Given the description of an element on the screen output the (x, y) to click on. 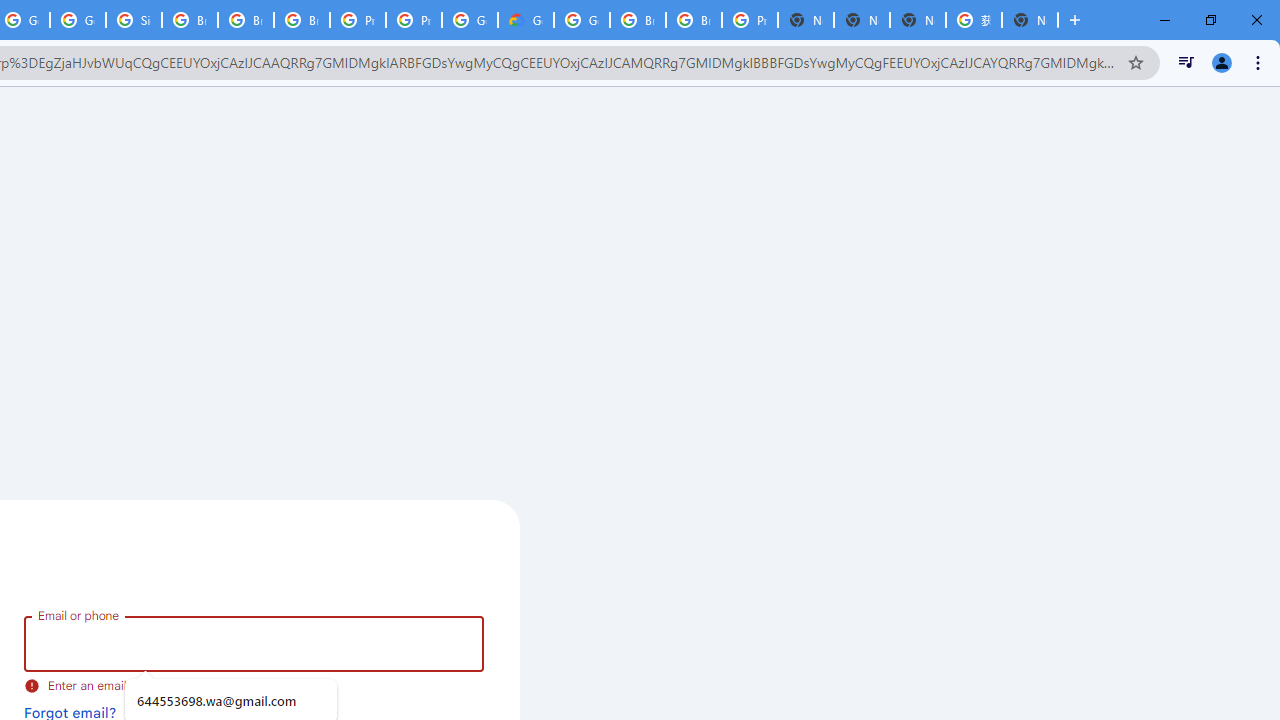
Google Cloud Estimate Summary (525, 20)
644553698.wa@gmail.com (230, 701)
Sign in - Google Accounts (134, 20)
Control your music, videos, and more (1185, 62)
Google Cloud Platform (469, 20)
Google Cloud Platform (582, 20)
Browse Chrome as a guest - Computer - Google Chrome Help (301, 20)
